Given the description of an element on the screen output the (x, y) to click on. 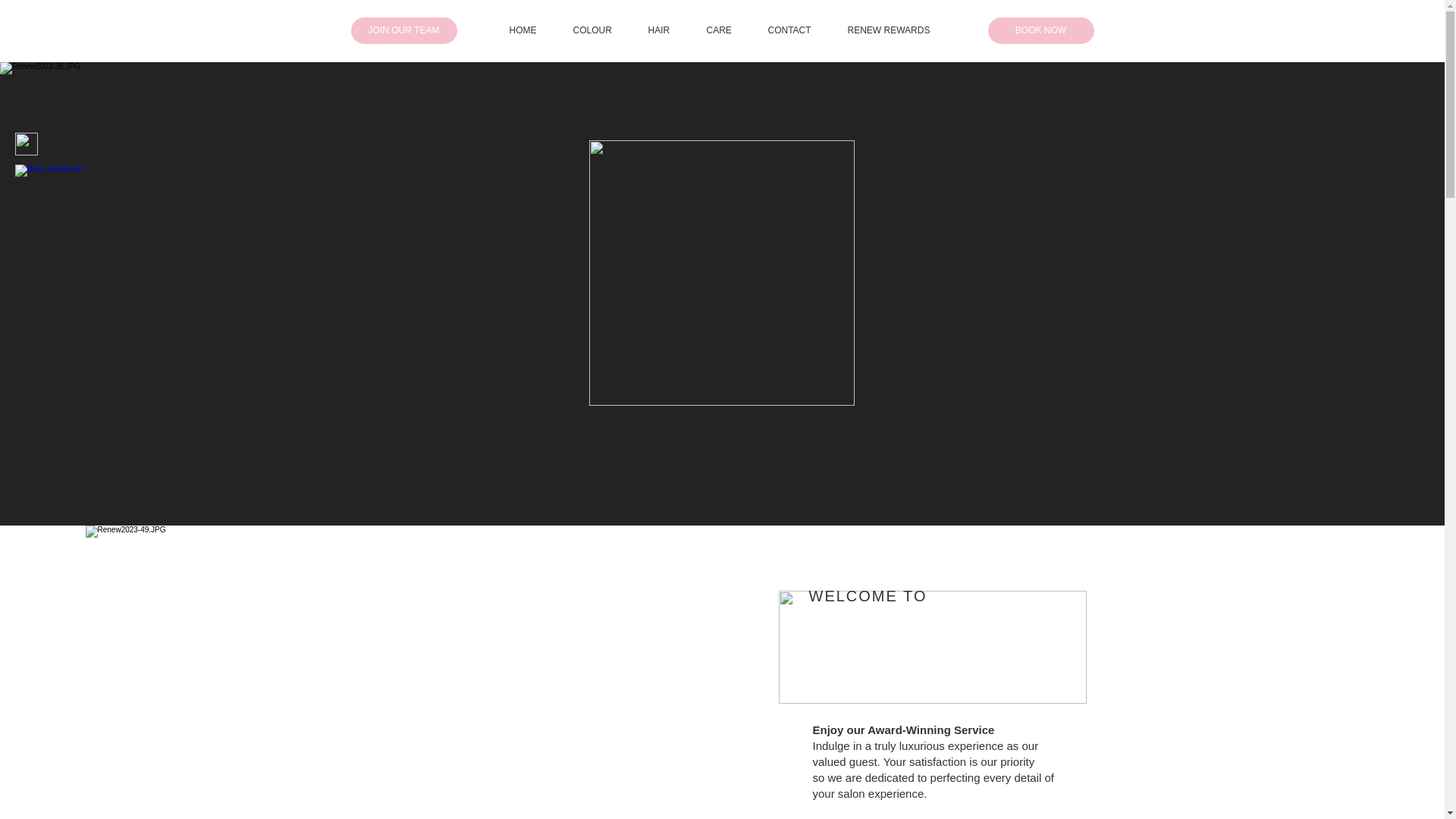
HOME (534, 30)
CARE (729, 30)
RENEW REWARDS (899, 30)
HAIR (669, 30)
BOOK NOW (1040, 30)
CONTACT (800, 30)
COLOUR (603, 30)
JOIN OUR TEAM (403, 30)
